Given the description of an element on the screen output the (x, y) to click on. 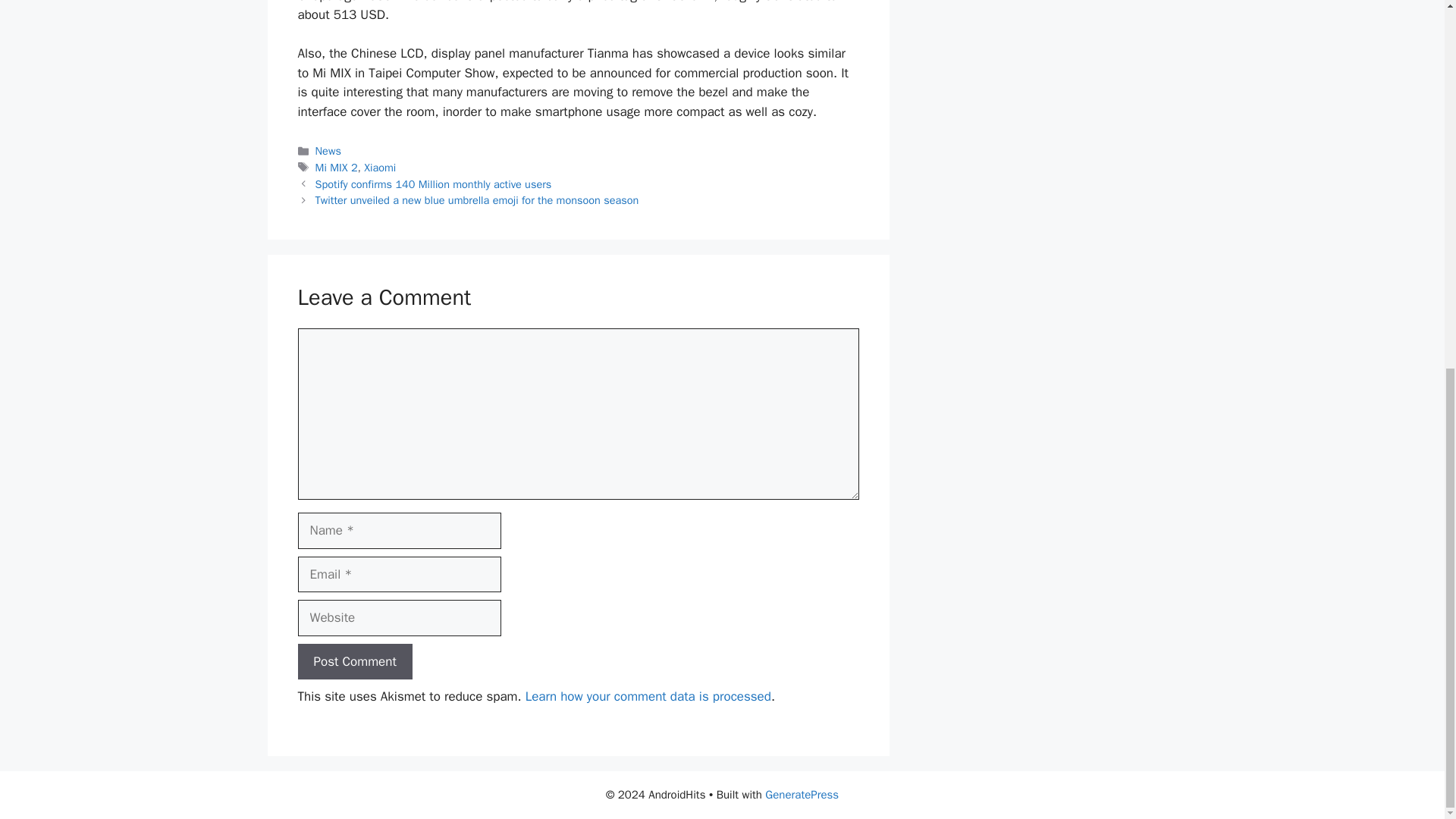
Mi MIX 2 (336, 167)
Xiaomi (380, 167)
Post Comment (354, 661)
GeneratePress (801, 794)
Learn how your comment data is processed (648, 696)
News (327, 151)
Post Comment (354, 661)
Spotify confirms 140 Million monthly active users (433, 183)
